Given the description of an element on the screen output the (x, y) to click on. 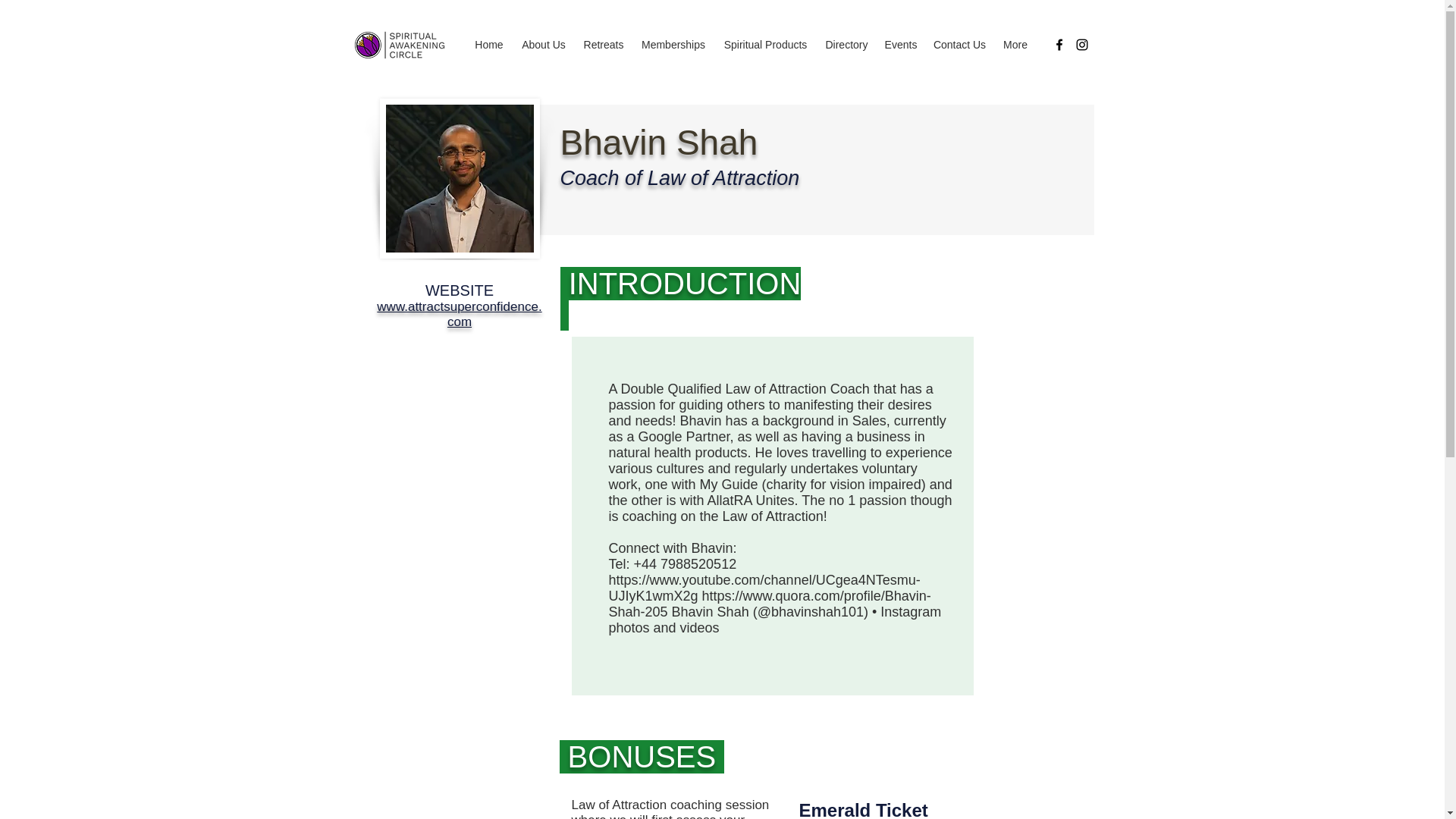
Events (900, 44)
Home (488, 44)
About Us (543, 44)
Retreats (603, 44)
Spiritual Products (764, 44)
www.attractsuperconfidence.com (459, 314)
Directory (845, 44)
Contact Us (959, 44)
